Given the description of an element on the screen output the (x, y) to click on. 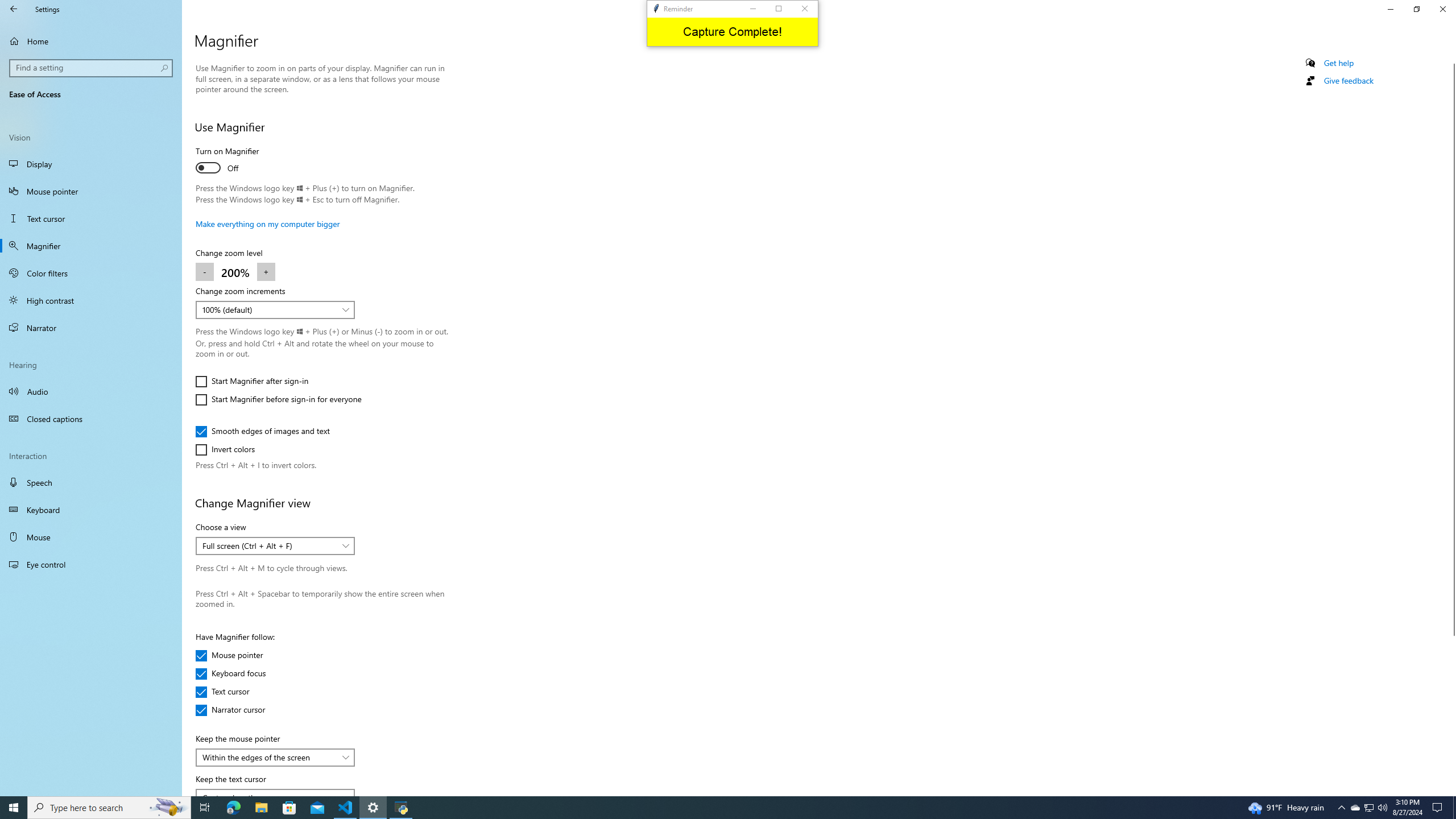
Narrator cursor (229, 710)
Restore Settings (1416, 9)
Vertical Small Decrease (1451, 58)
Within the edges of the screen (269, 756)
Keyboard focus (230, 674)
